Given the description of an element on the screen output the (x, y) to click on. 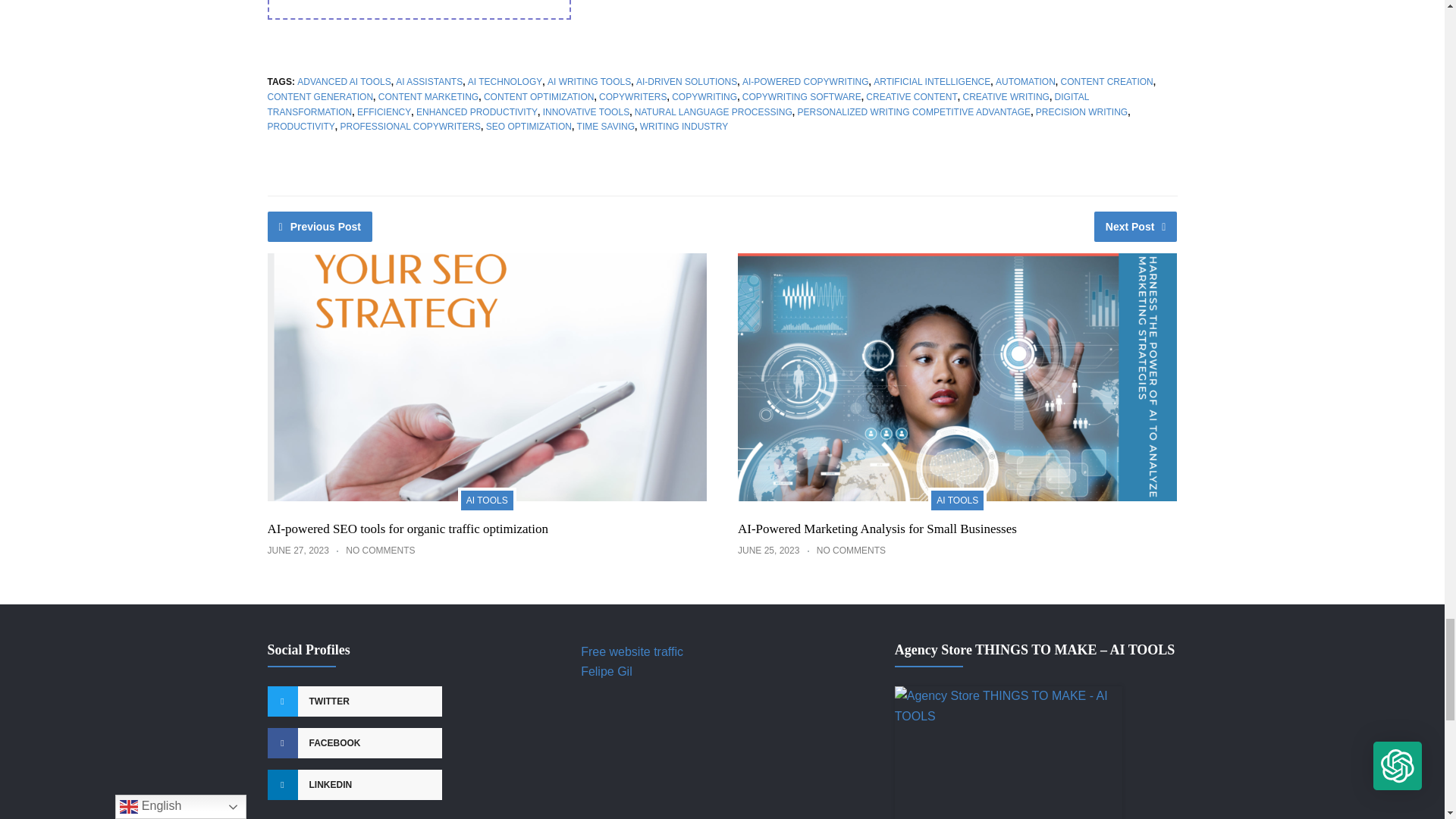
ADVANCED AI TOOLS (343, 81)
